Given the description of an element on the screen output the (x, y) to click on. 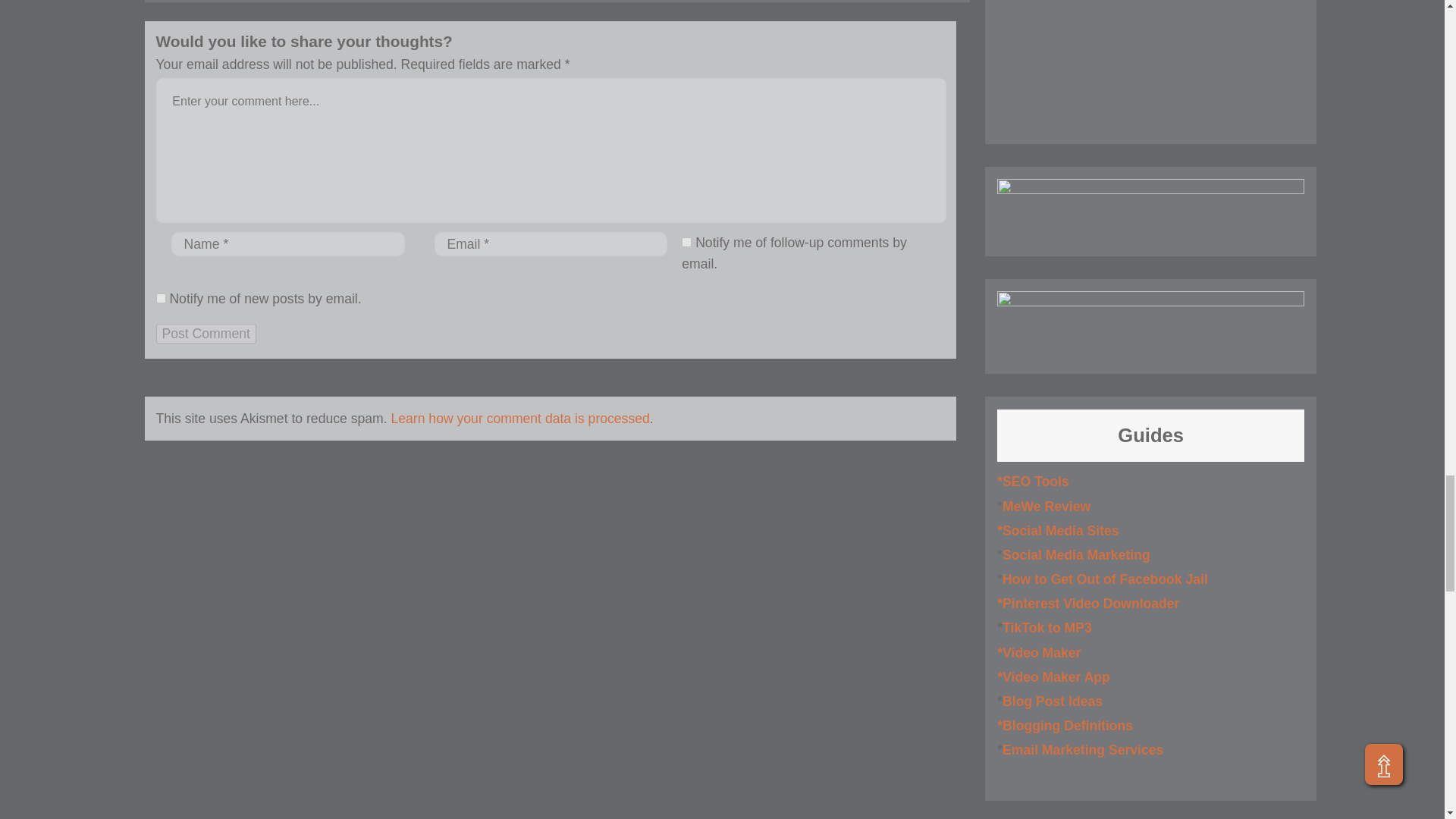
subscribe (686, 242)
subscribe (160, 298)
Post Comment (205, 333)
